Given the description of an element on the screen output the (x, y) to click on. 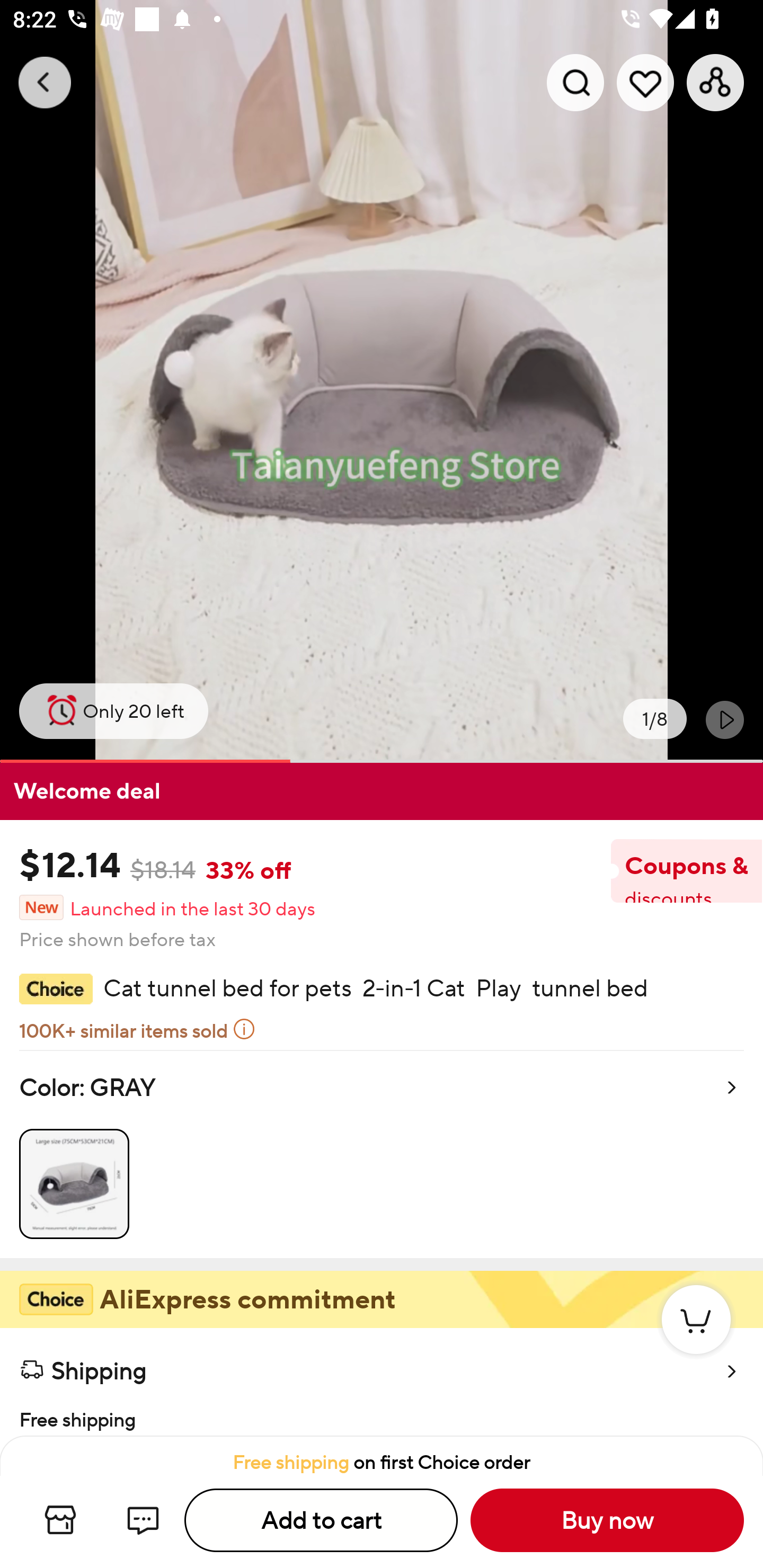
38.0 (381, 381)
Navigate up (44, 82)
 (724, 719)
Color: GRAY  (381, 1153)
Shipping  Free shipping  (381, 1382)
Free shipping  (381, 1414)
Add to cart (320, 1520)
Buy now (606, 1520)
